Given the description of an element on the screen output the (x, y) to click on. 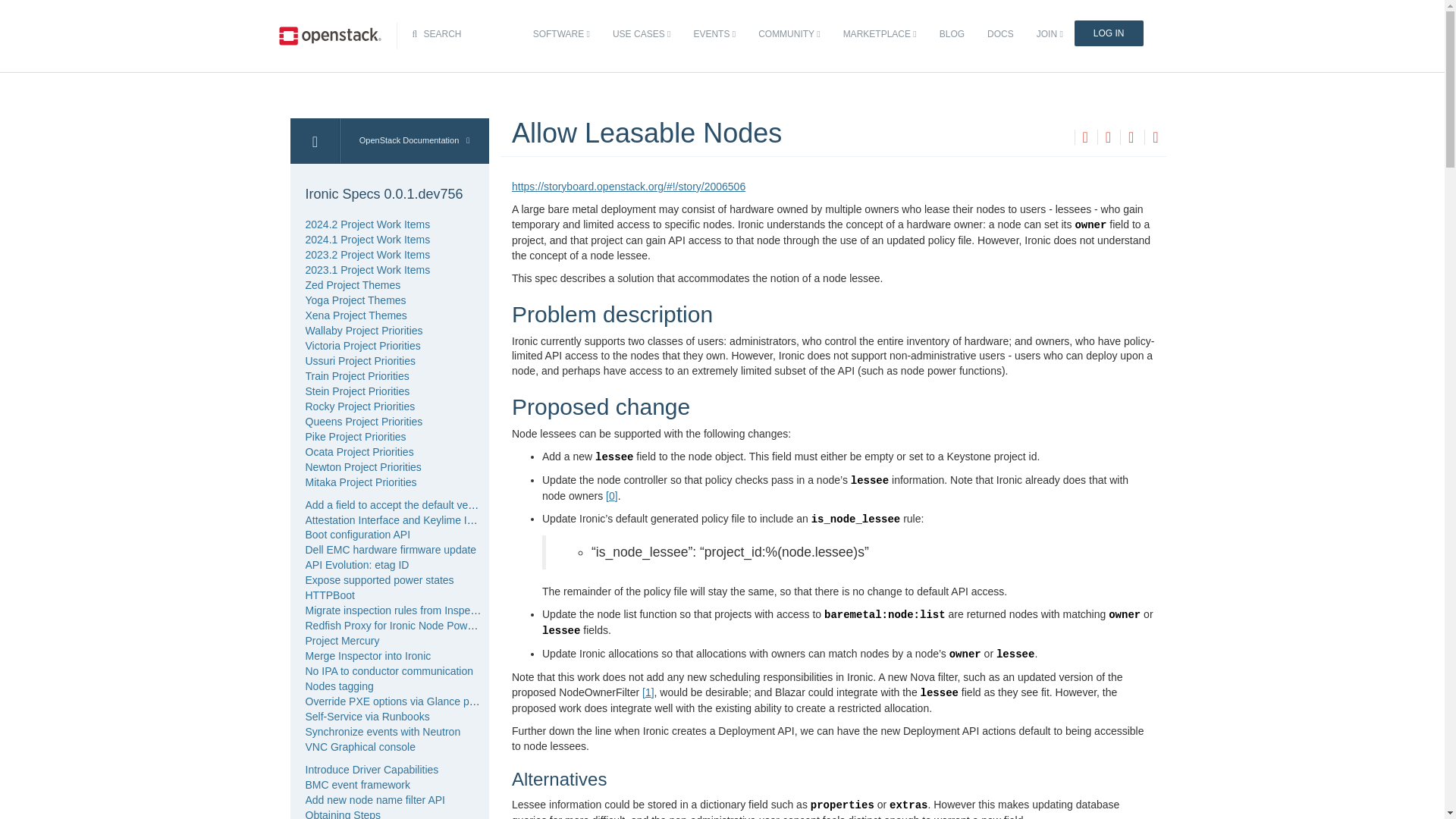
MARKETPLACE (879, 34)
EVENTS (713, 34)
Download the manuals as PDF (1130, 138)
Found an error? Report a bug against this page (1155, 138)
USE CASES (641, 34)
SOFTWARE (561, 34)
COMMUNITY (788, 34)
